Given the description of an element on the screen output the (x, y) to click on. 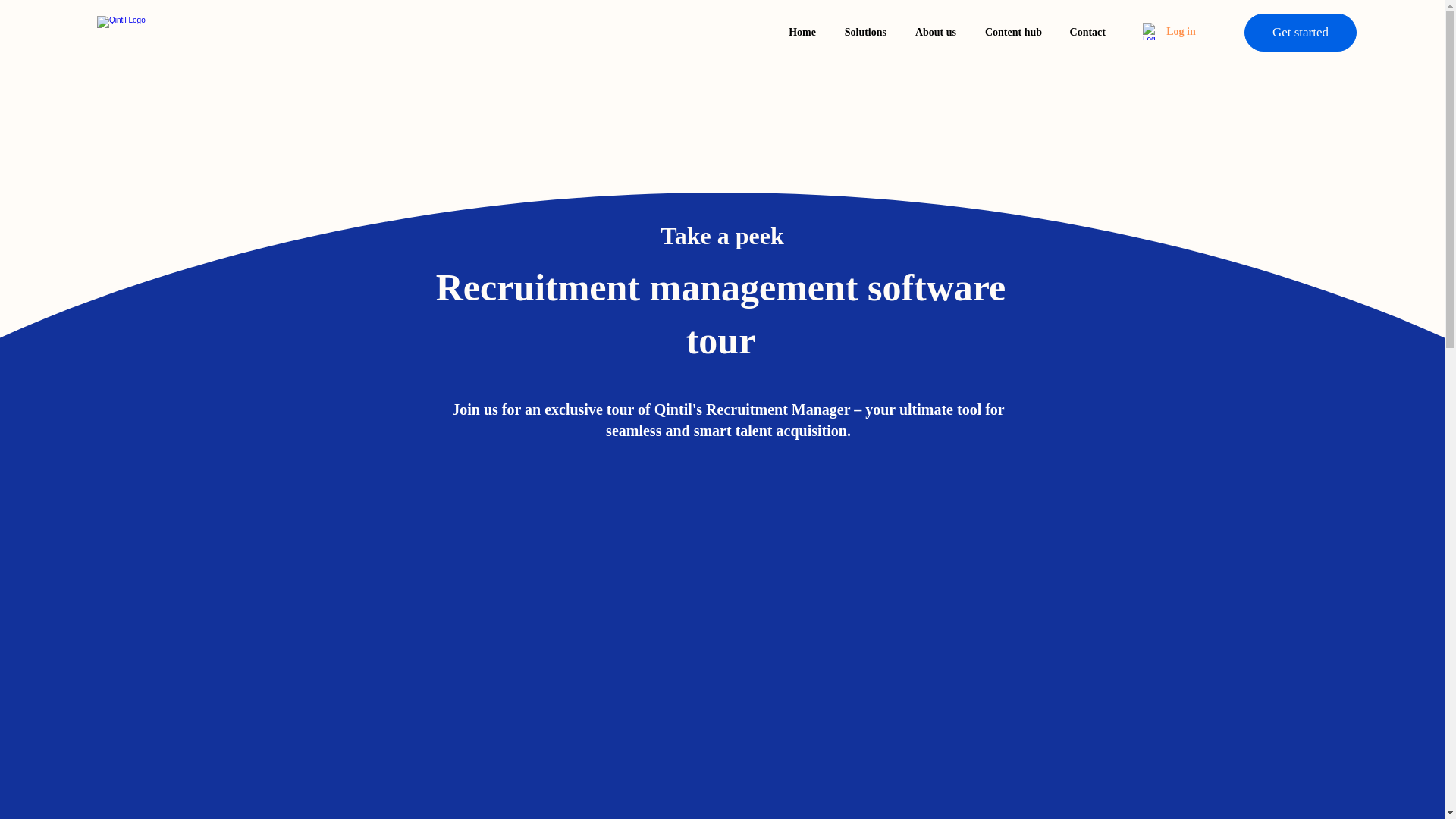
Get started (1300, 32)
Home (799, 32)
Log in (1151, 31)
About us (933, 32)
Content hub (1010, 32)
Log in (1180, 30)
